Given the description of an element on the screen output the (x, y) to click on. 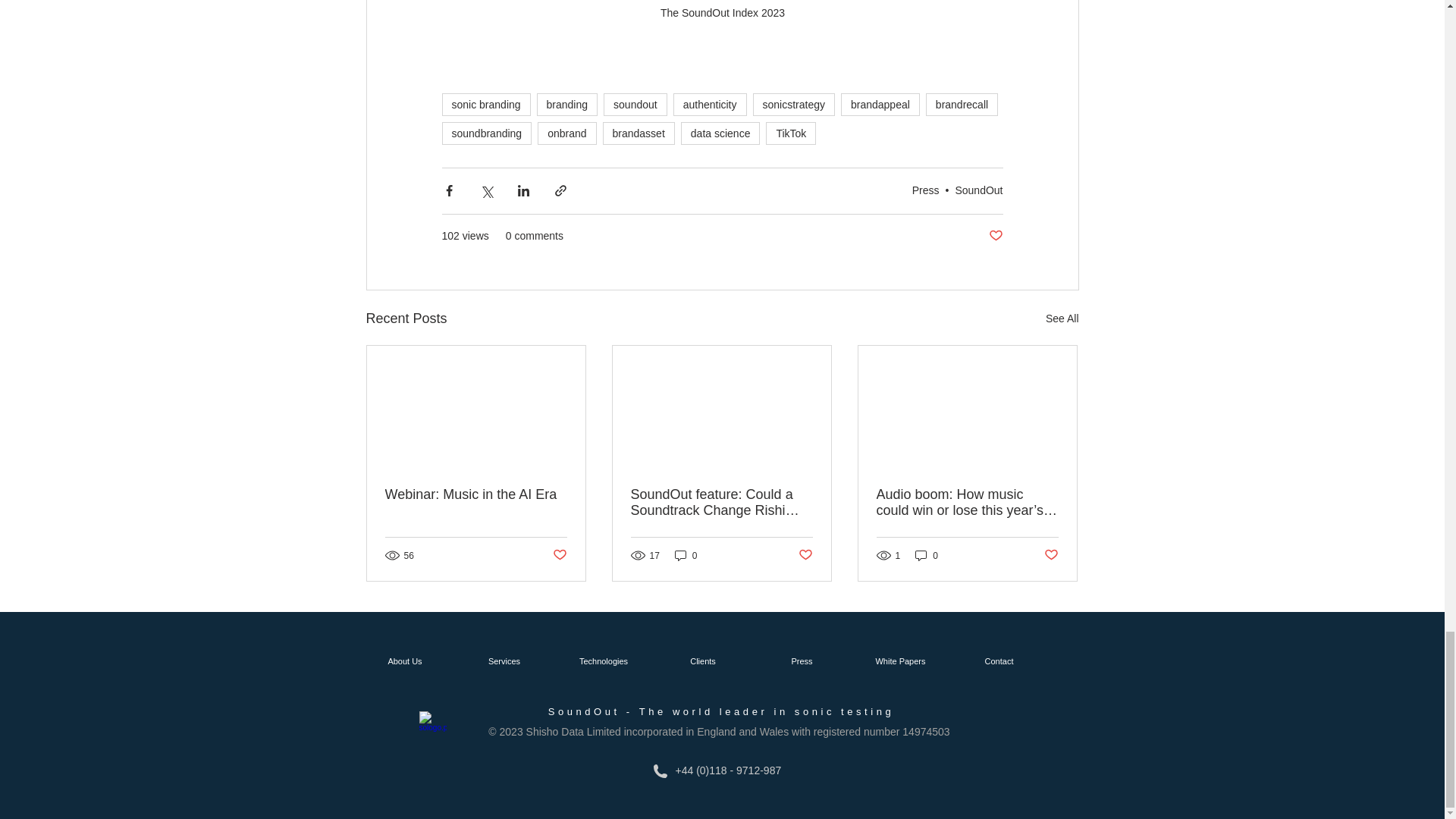
soundout (635, 104)
branding (567, 104)
brandrecall (961, 104)
sonic branding (485, 104)
soundbranding (486, 133)
TikTok (790, 133)
brandappeal (880, 104)
onbrand (566, 133)
sonicstrategy (793, 104)
authenticity (709, 104)
